Given the description of an element on the screen output the (x, y) to click on. 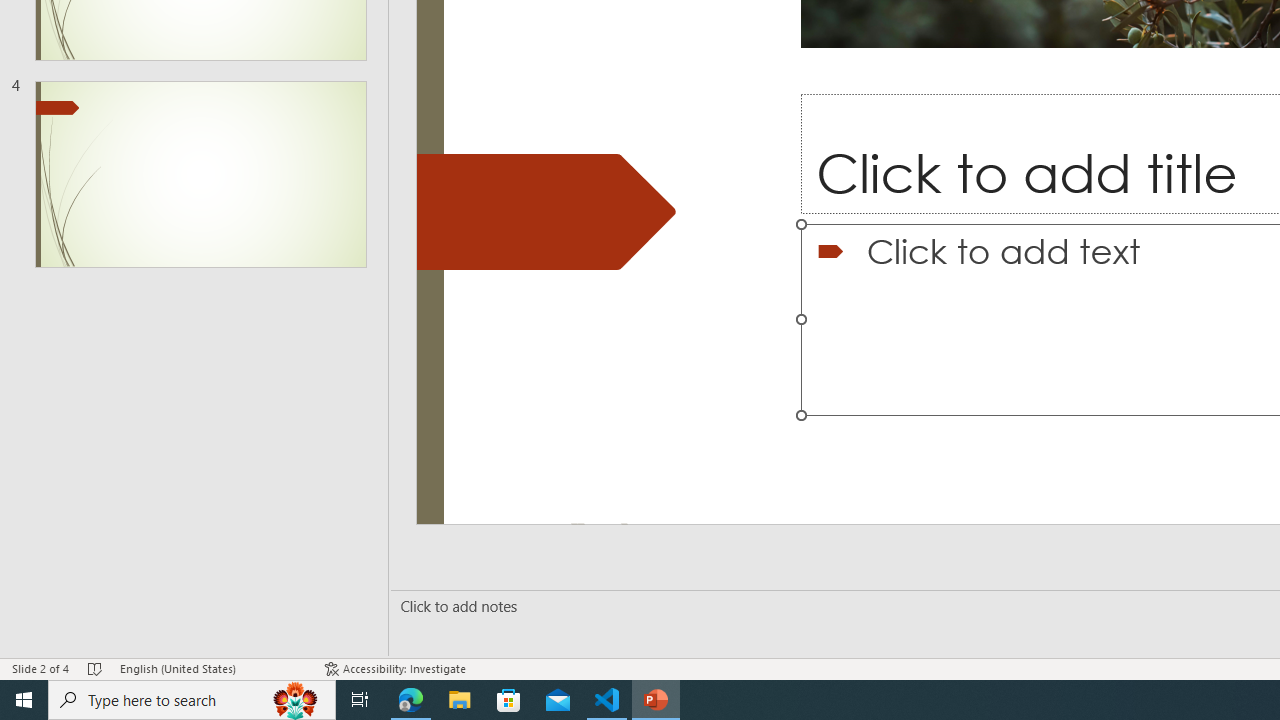
Decorative Locked (546, 212)
